Given the description of an element on the screen output the (x, y) to click on. 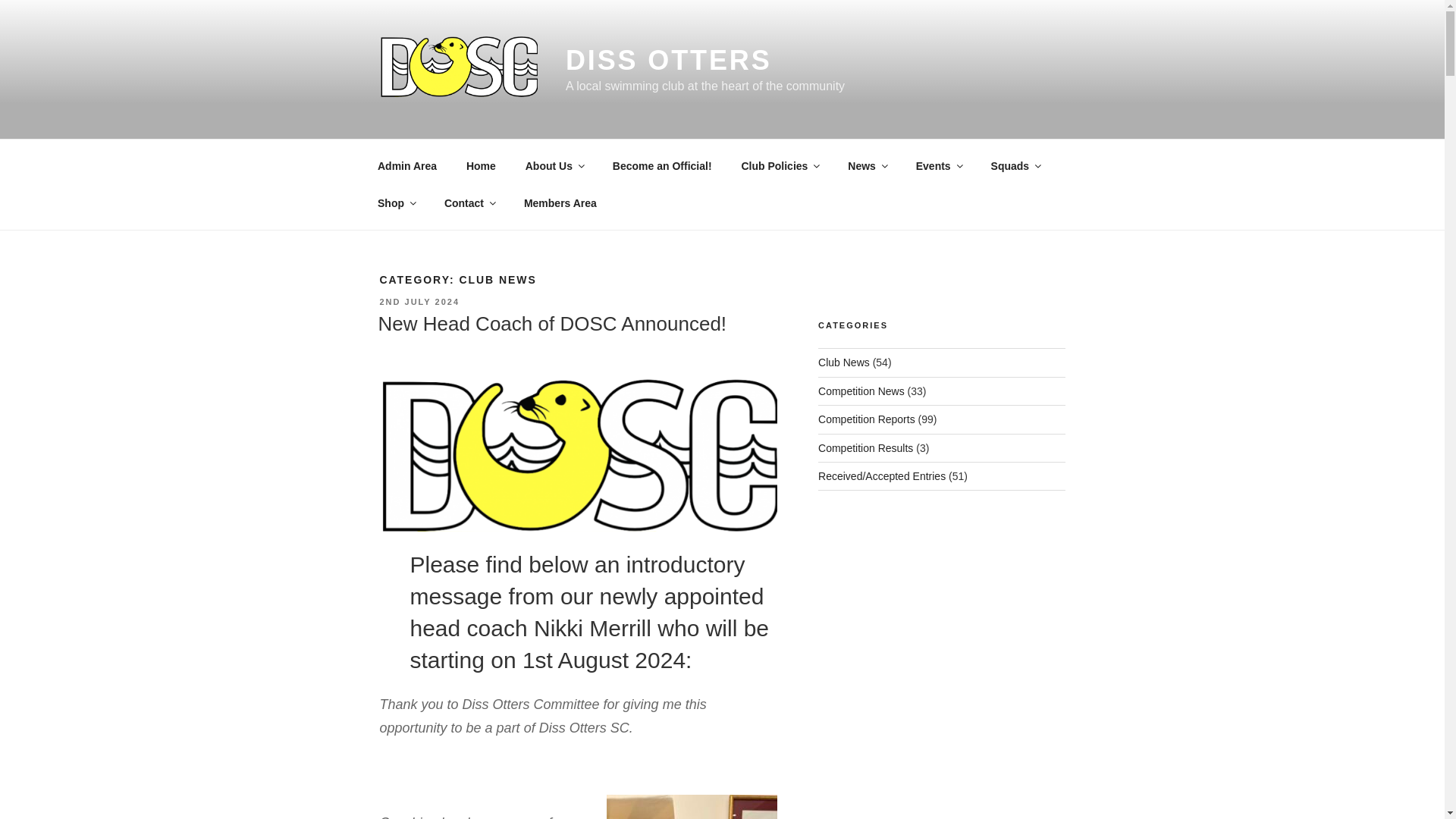
News (866, 165)
Events (938, 165)
Home (480, 165)
Become an Official! (661, 165)
DISS OTTERS (668, 60)
About Us (553, 165)
Club Policies (779, 165)
Admin Area (406, 165)
